Given the description of an element on the screen output the (x, y) to click on. 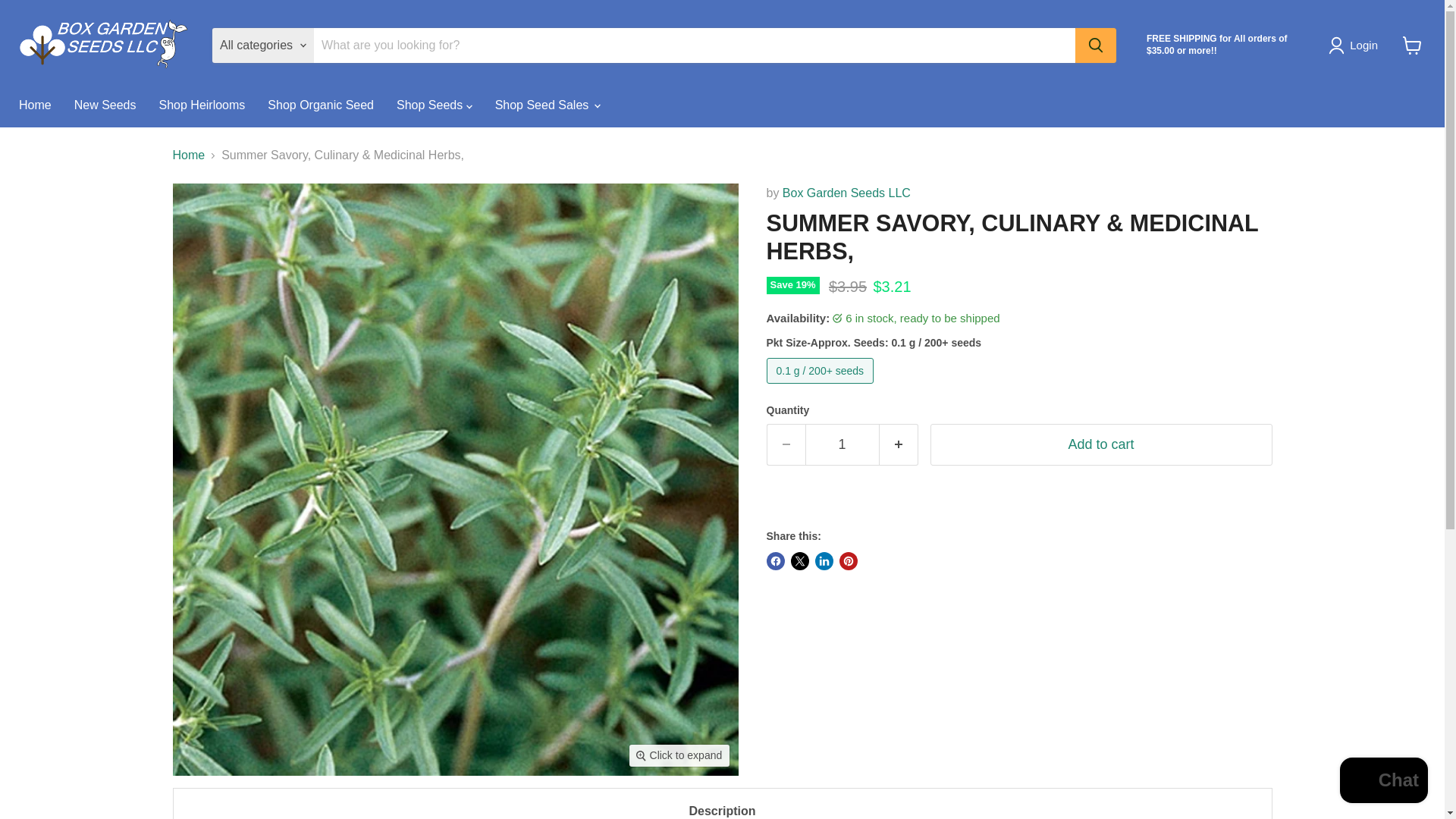
Home (34, 105)
Shopify online store chat (1383, 781)
Shop Organic Seed (320, 105)
New Seeds (105, 105)
Shop Heirlooms (202, 105)
1 (842, 445)
View cart (1411, 45)
Box Garden Seeds LLC (847, 192)
Login (1355, 45)
